Given the description of an element on the screen output the (x, y) to click on. 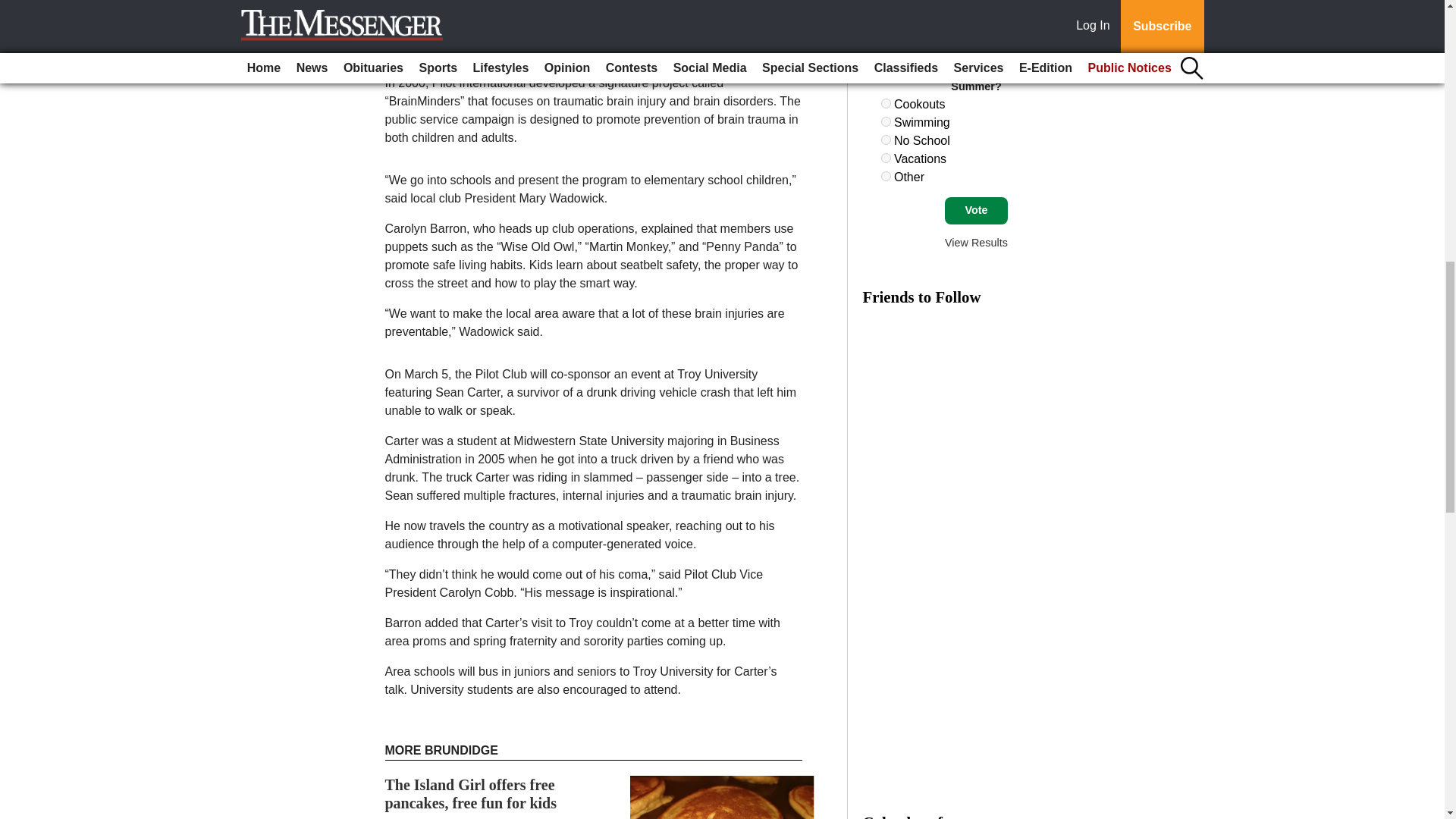
   Vote    (975, 210)
The Island Girl offers free  pancakes, free fun for kids (471, 793)
7274 (885, 103)
View Results Of This Poll (975, 242)
7275 (885, 121)
7277 (885, 157)
7278 (885, 175)
7276 (885, 139)
